Given the description of an element on the screen output the (x, y) to click on. 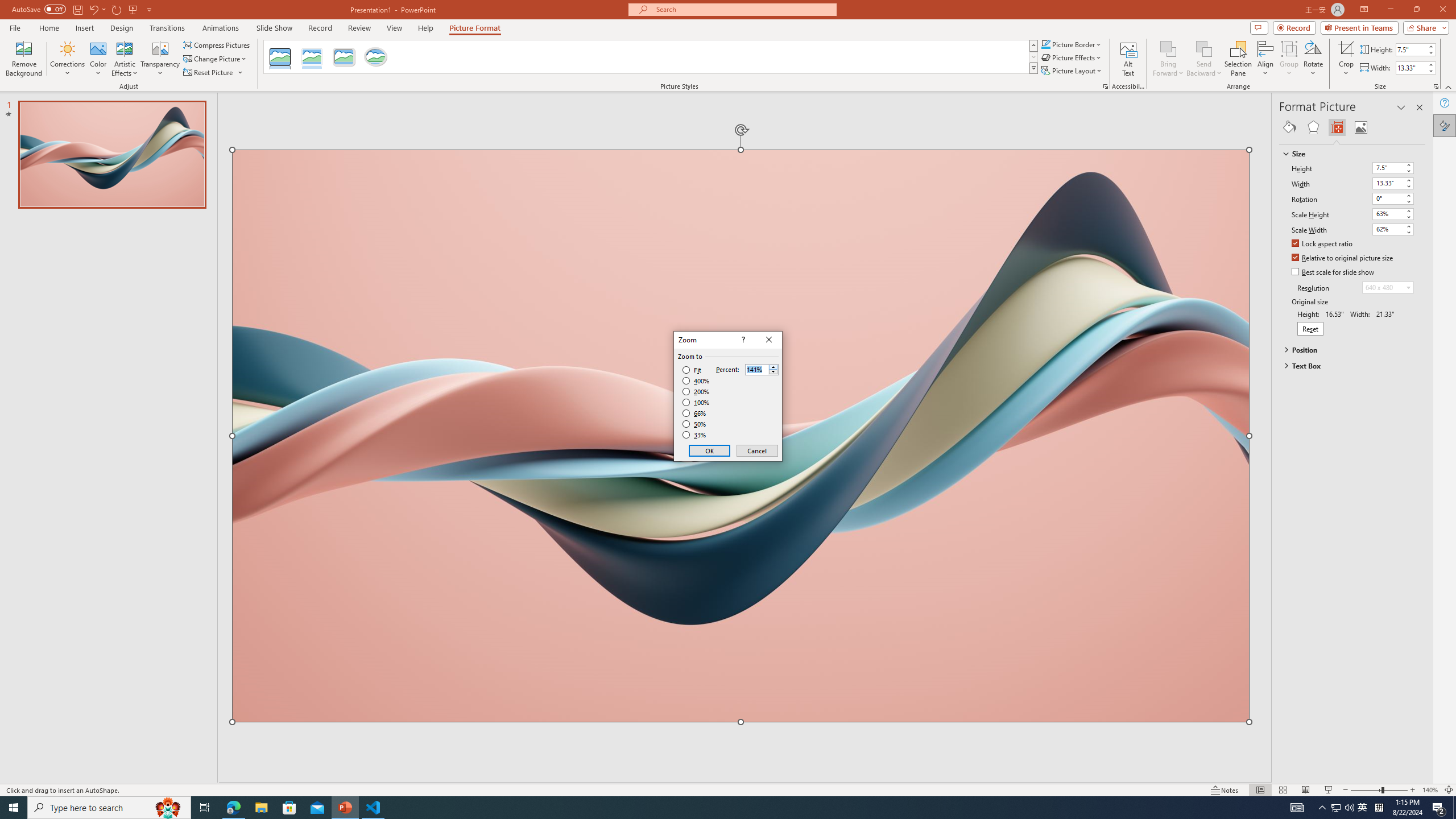
Crop (1345, 48)
Compress Pictures... (217, 44)
Rotation (1388, 198)
Align (1264, 58)
Shape Height (1410, 49)
Zoom 140% (1430, 790)
AutomationID: PictureStylesGallery (650, 56)
Bring Forward (1168, 48)
Send Backward (1204, 48)
Effects (1313, 126)
200% (696, 391)
